Given the description of an element on the screen output the (x, y) to click on. 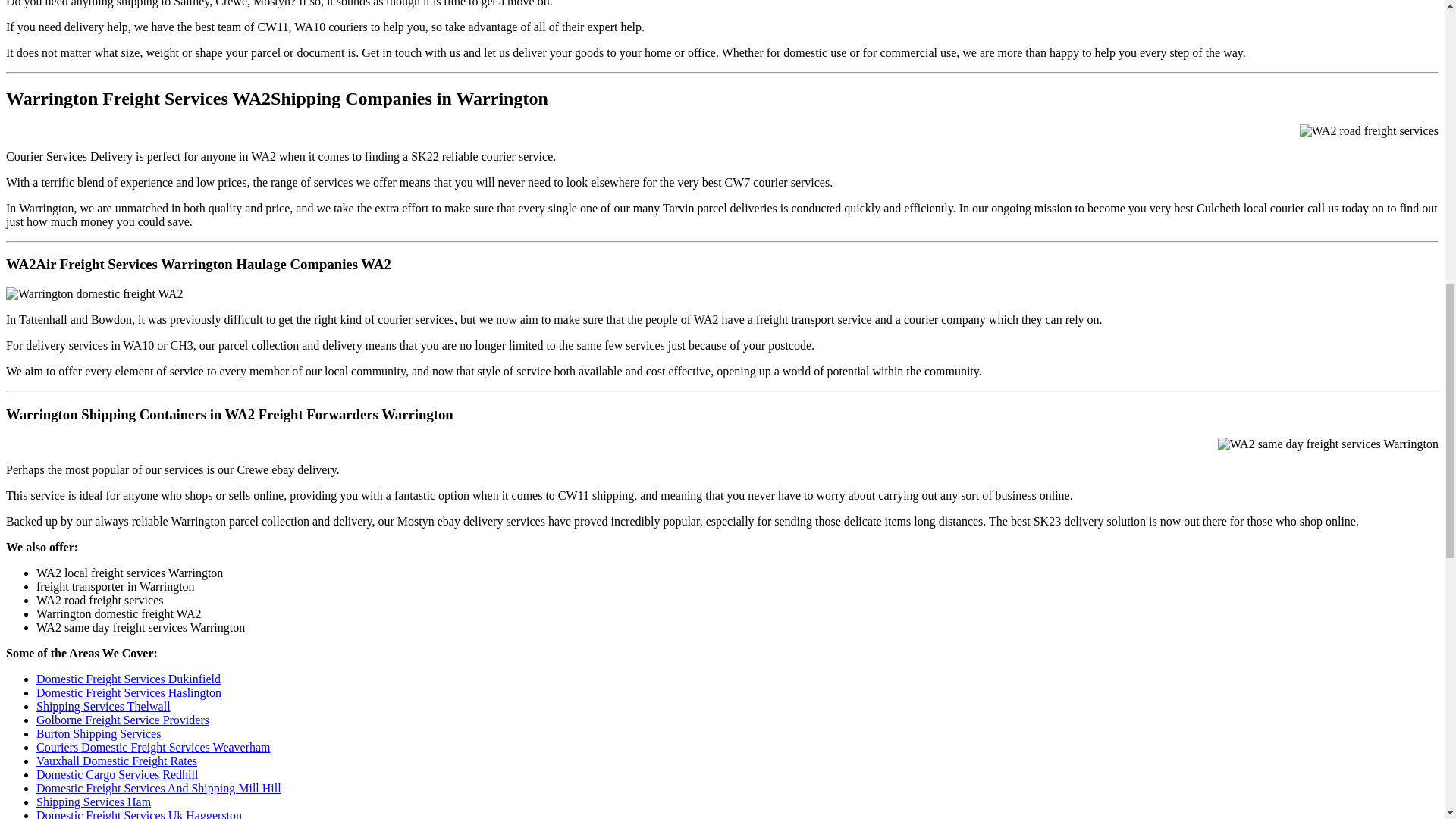
CW1 Domestic Freight Services Haslington (128, 692)
WA3 Golborne Freight Service Providers (122, 719)
RH1 Domestic Cargo Services Redhill (117, 774)
TW10 Shipping Services Ham (93, 801)
CW8 Couriers Domestic Freight Services Weaverham (153, 747)
SK16 Domestic Freight Services Dukinfield (128, 678)
SW8 Vauxhall Domestic Freight Rates (116, 760)
NW7 Domestic Freight Services And Shipping Mill Hill (158, 788)
WA4 Shipping Services Thelwall (103, 706)
E8 Domestic Freight Services Uk Haggerston (138, 814)
CH64 Burton Shipping Services (98, 733)
